Given the description of an element on the screen output the (x, y) to click on. 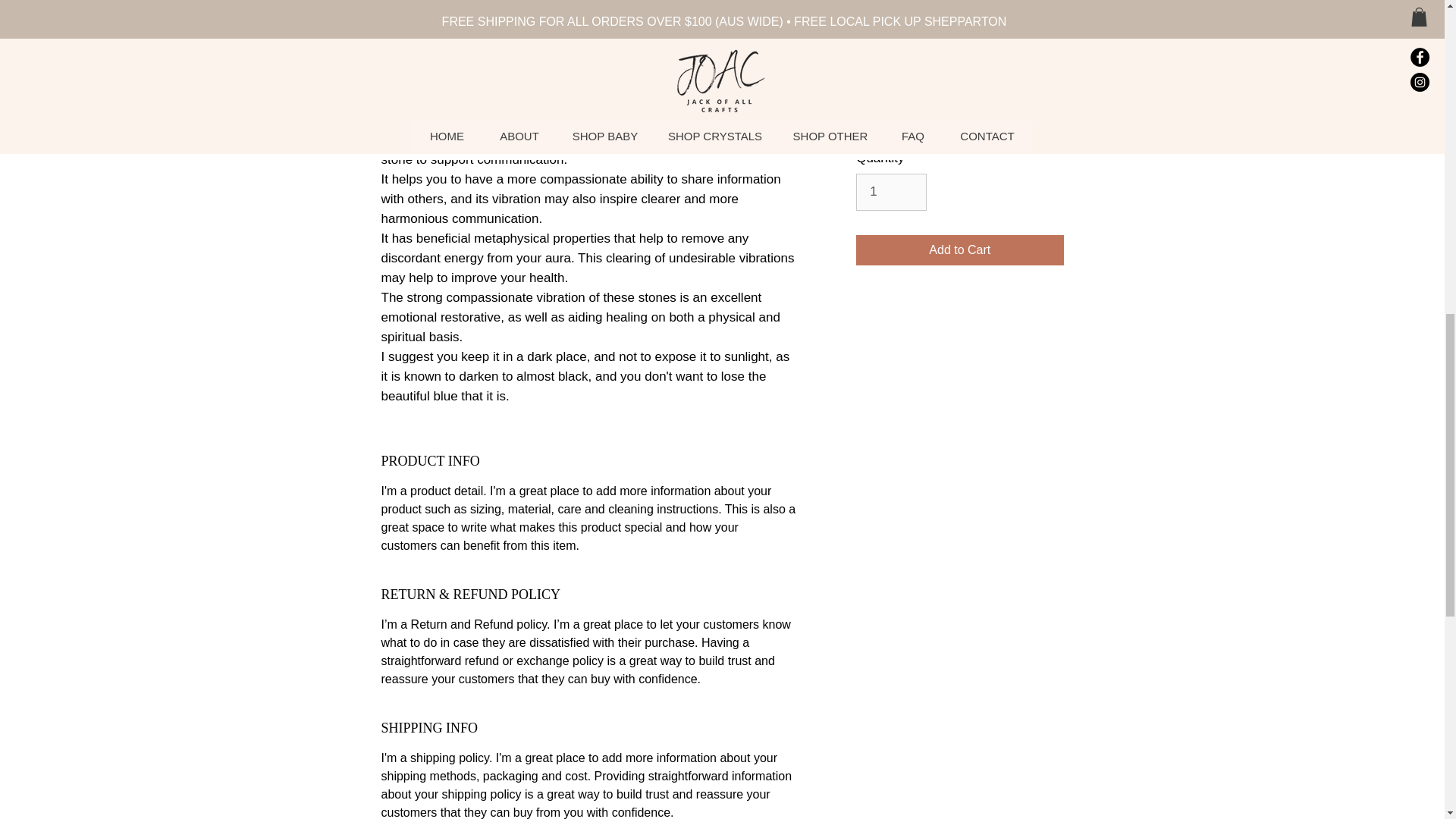
1 (891, 191)
Add to Cart (959, 250)
Select (959, 57)
